Given the description of an element on the screen output the (x, y) to click on. 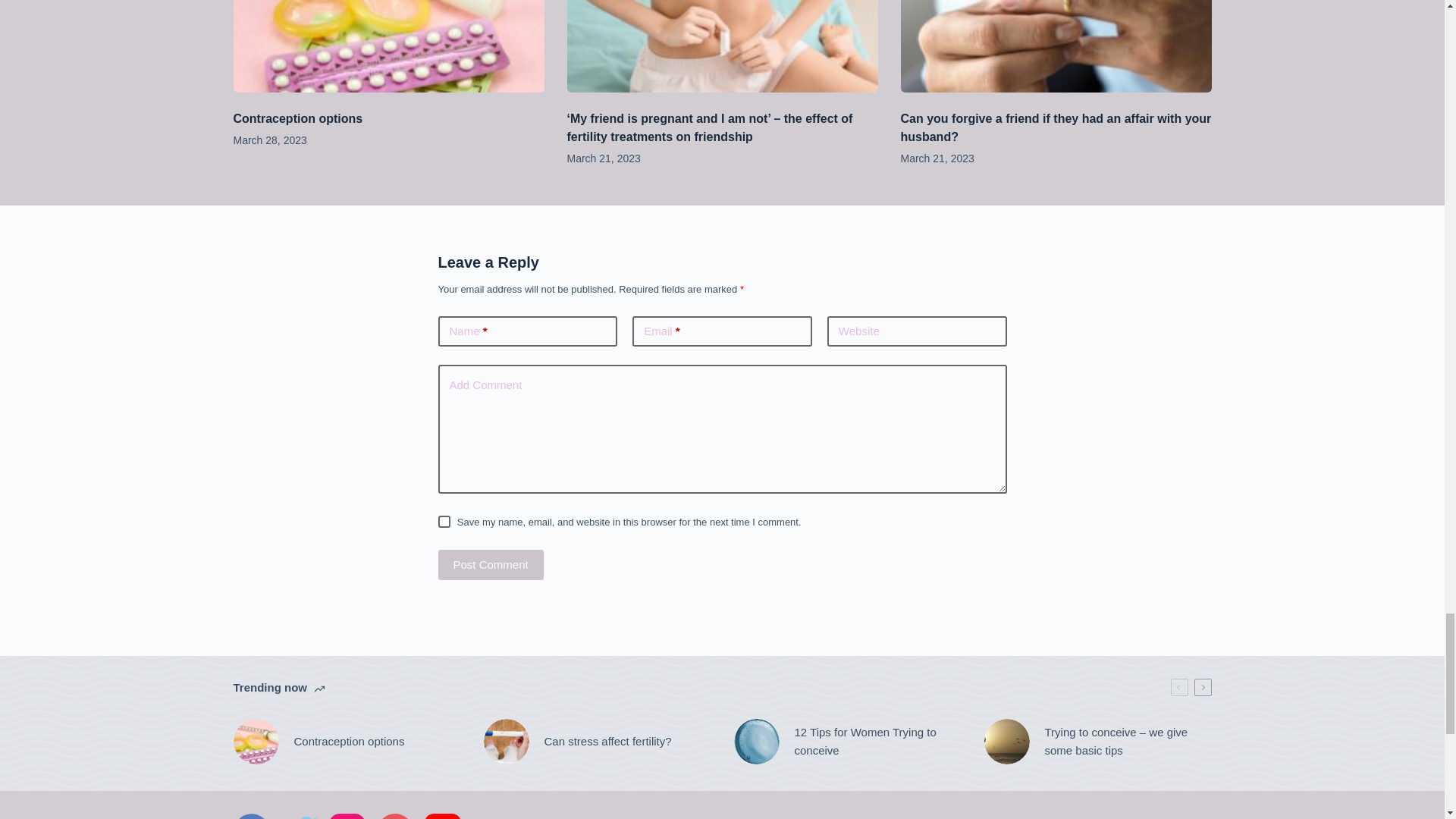
yes (443, 521)
